Given the description of an element on the screen output the (x, y) to click on. 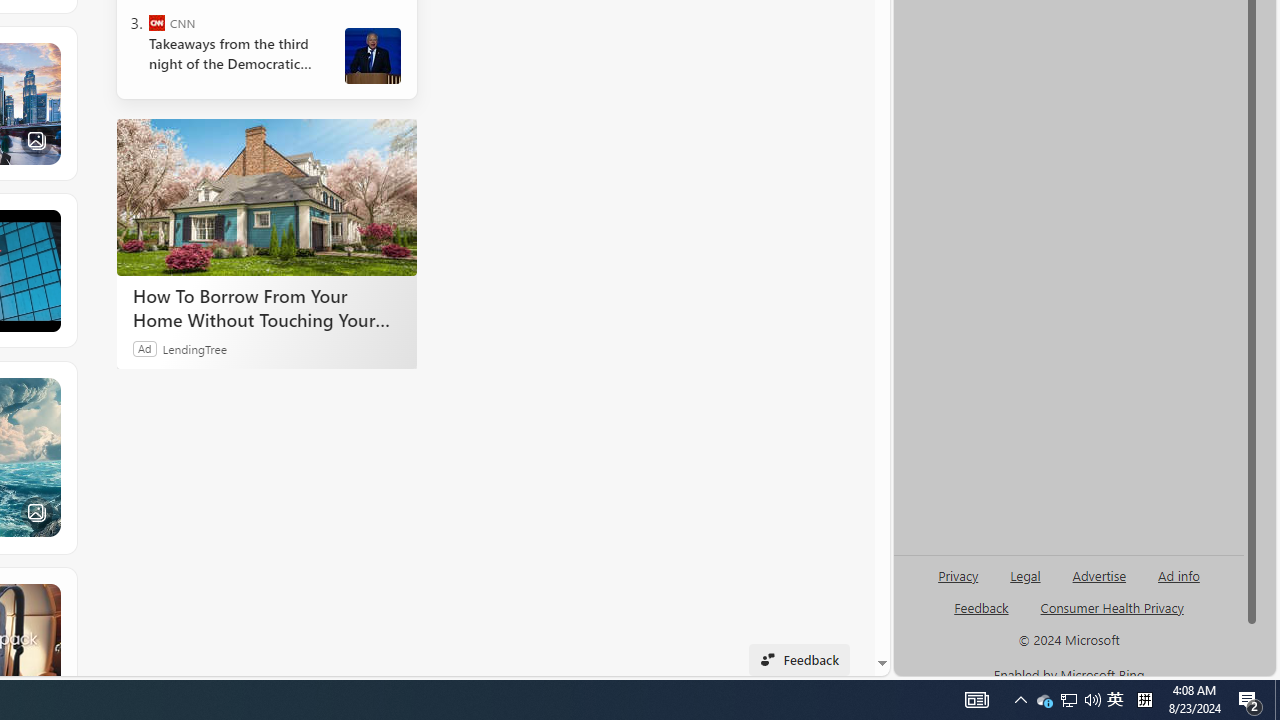
LendingTree (194, 348)
AutomationID: genId96 (981, 615)
CNN (156, 22)
AutomationID: sb_feedback (980, 607)
